Given the description of an element on the screen output the (x, y) to click on. 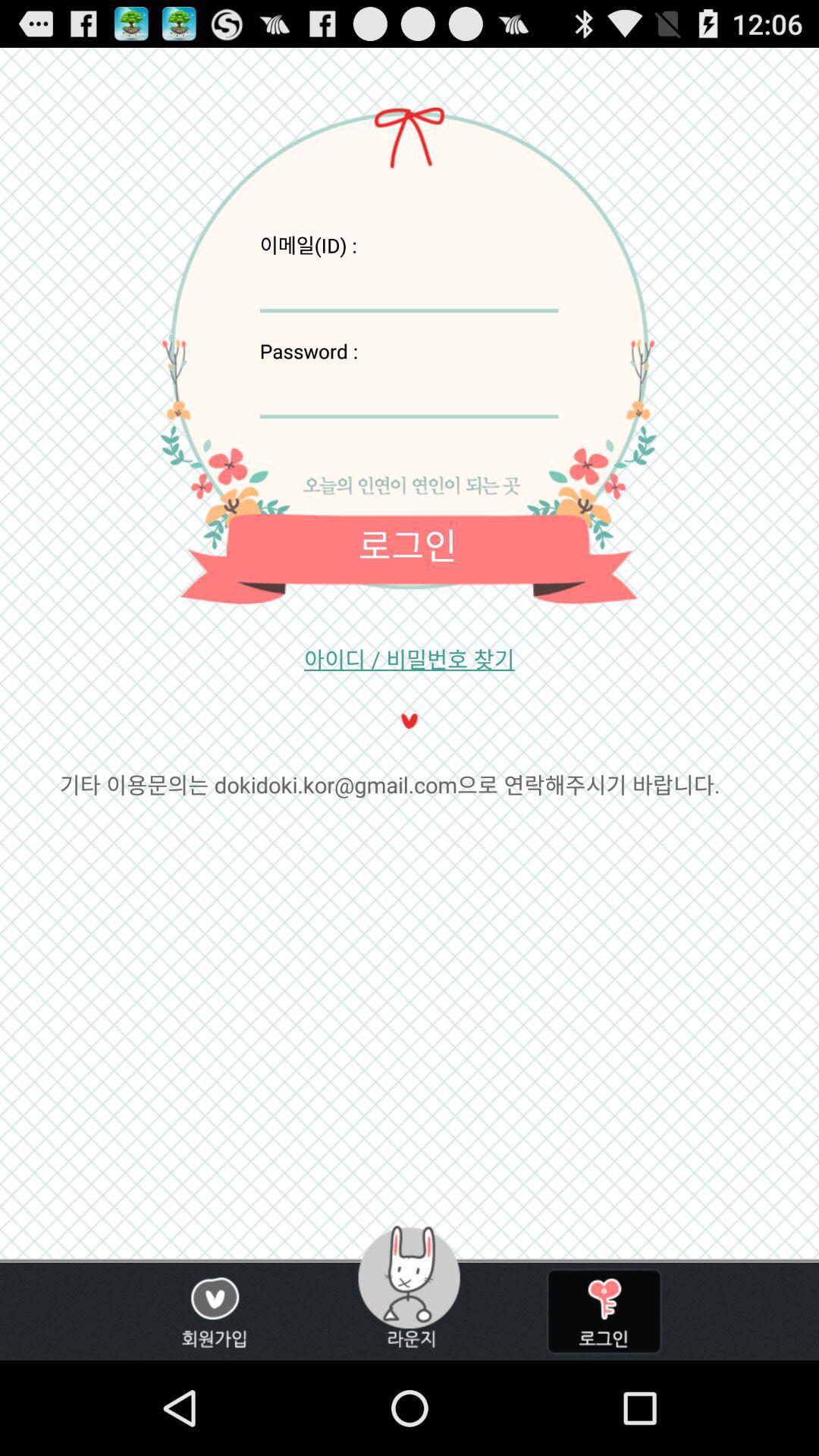
input user name (408, 285)
